Given the description of an element on the screen output the (x, y) to click on. 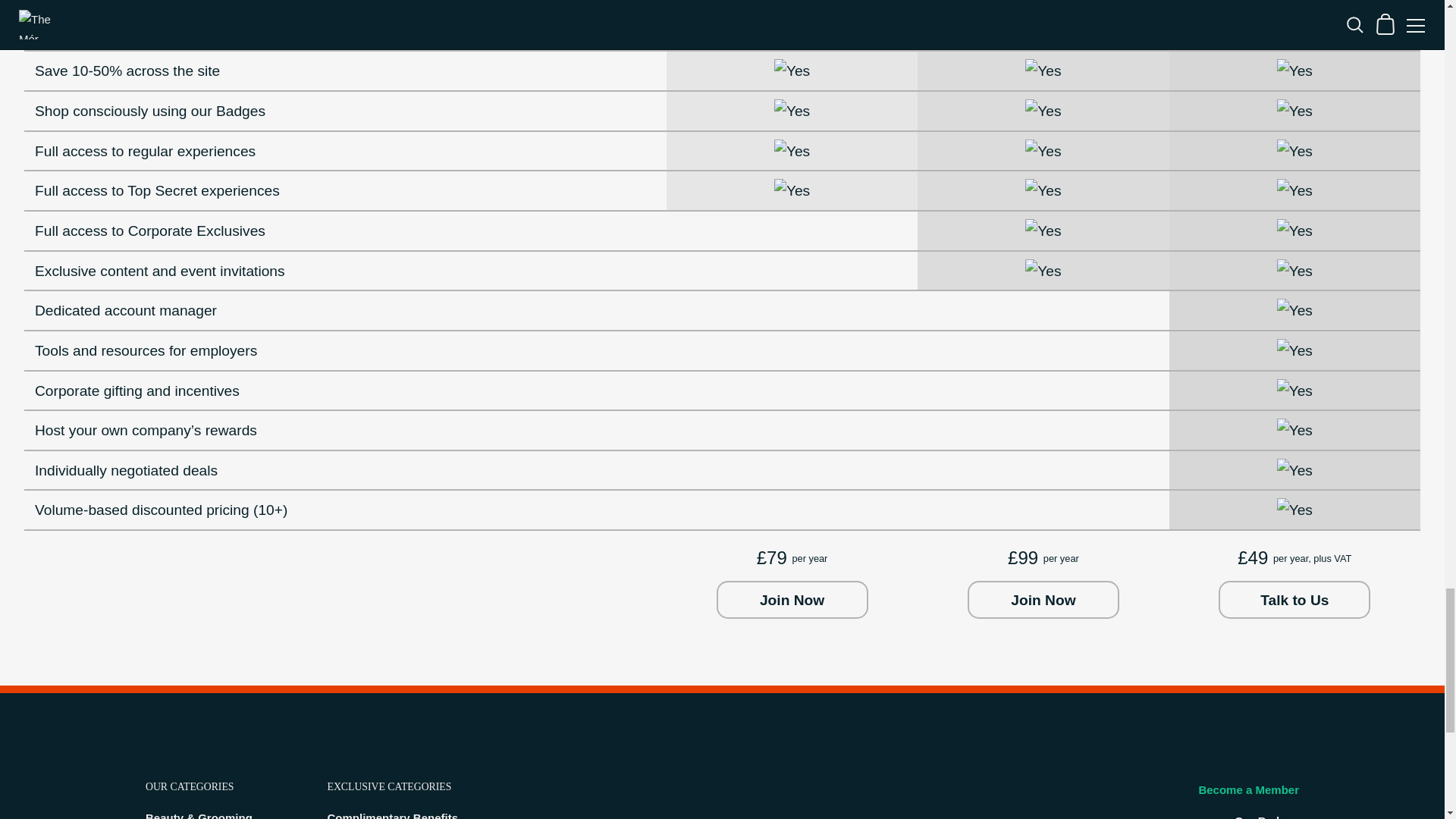
Join Now (1043, 599)
Join Now (791, 599)
Talk to Us (1294, 599)
